Given the description of an element on the screen output the (x, y) to click on. 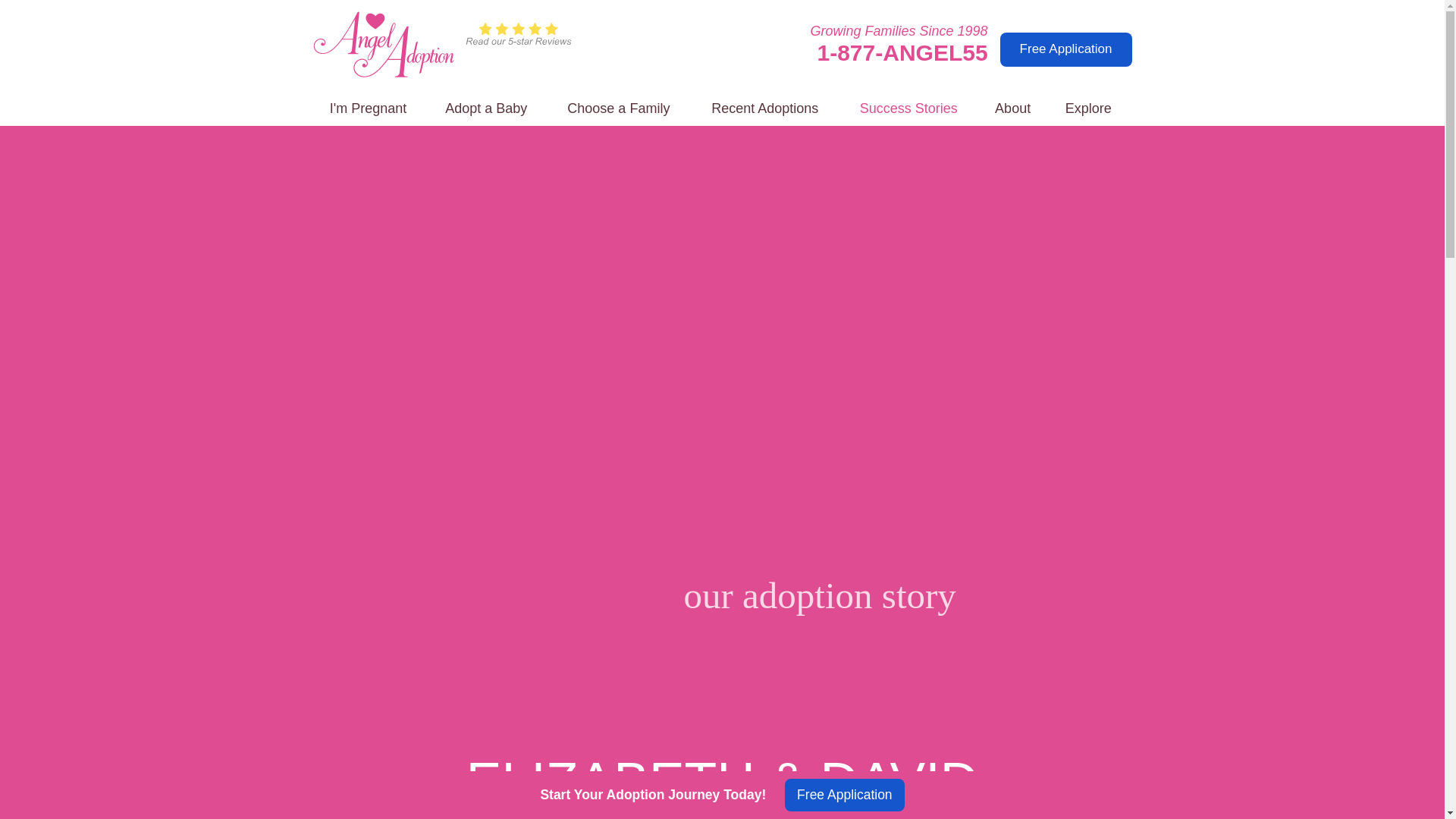
1-877-ANGEL55 (902, 52)
I'm Pregnant (368, 109)
Choose a Family (618, 109)
Free Application (1066, 49)
Waiting Families (618, 109)
Adopt a Baby (486, 109)
